Given the description of an element on the screen output the (x, y) to click on. 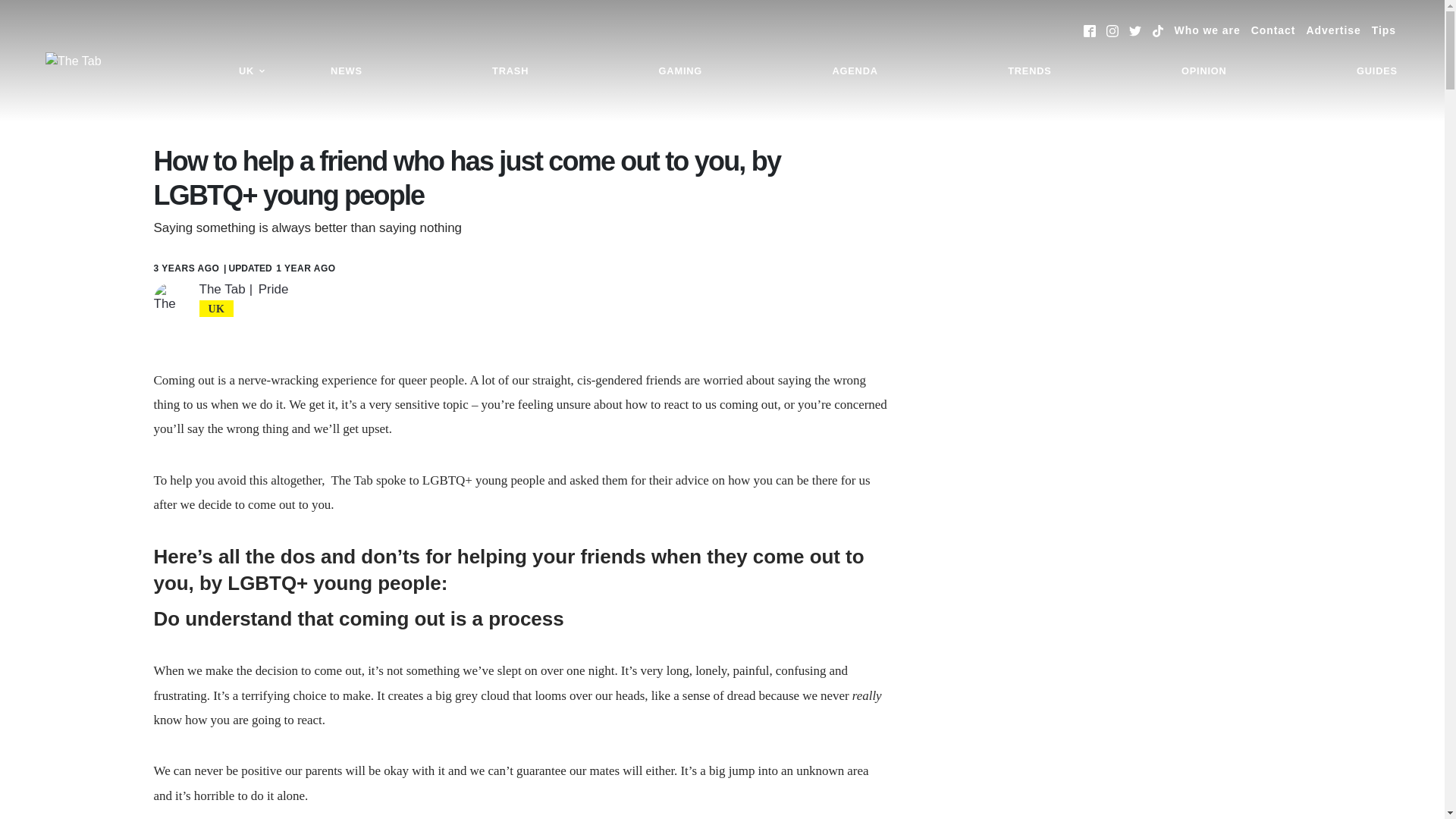
UK (252, 71)
NEWS (346, 71)
GUIDES (1377, 71)
TRASH (510, 71)
AGENDA (854, 71)
Contact (1272, 29)
Tips (1383, 29)
TRENDS (1028, 71)
GAMING (680, 71)
Who we are (1207, 29)
